Given the description of an element on the screen output the (x, y) to click on. 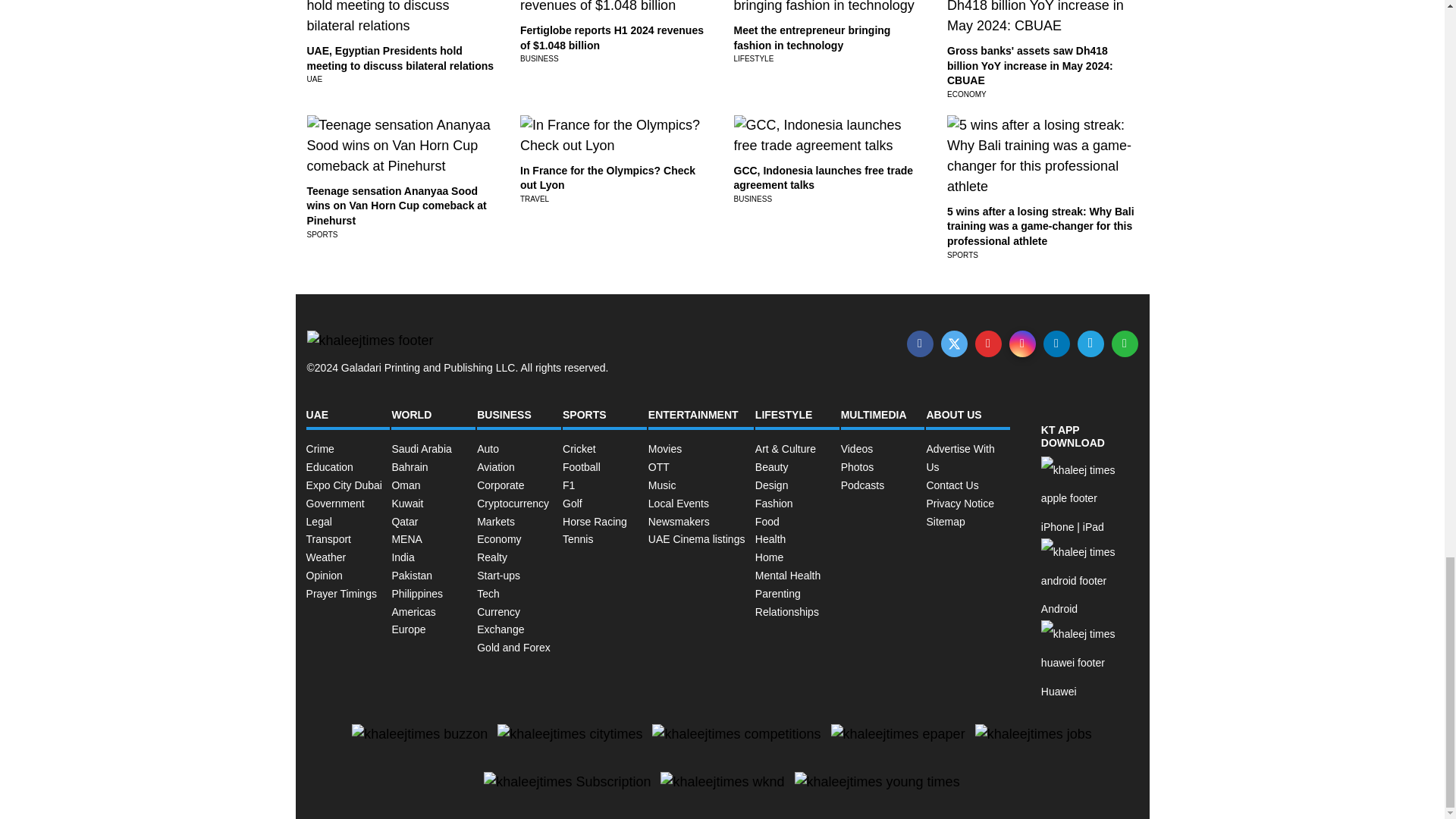
In France for the Olympics? Check out Lyon  (607, 177)
GCC, Indonesia launches free trade agreement talks (823, 177)
Meet the entrepreneur bringing fashion in technology (812, 37)
